Given the description of an element on the screen output the (x, y) to click on. 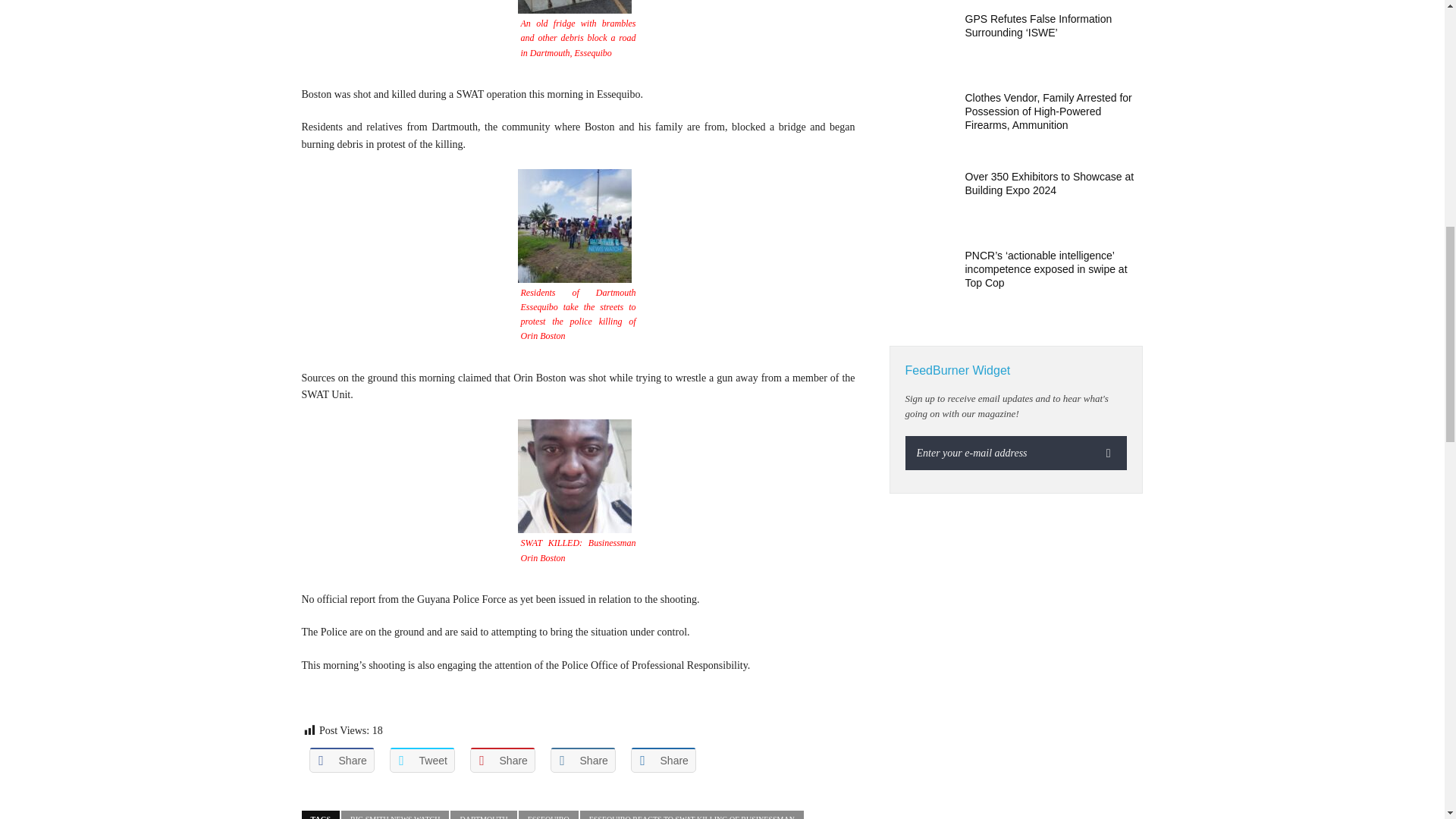
View all posts tagged Dartmouth (482, 814)
Share on Facebook (341, 760)
View all posts tagged BIG Smith News Watch (394, 814)
Share on Digg (662, 760)
Share on Twitter (422, 760)
Share on LinkedIn (582, 760)
Share on Pinterest (502, 760)
View all posts tagged Essequibo (548, 814)
Enter your e-mail address (997, 452)
